Given the description of an element on the screen output the (x, y) to click on. 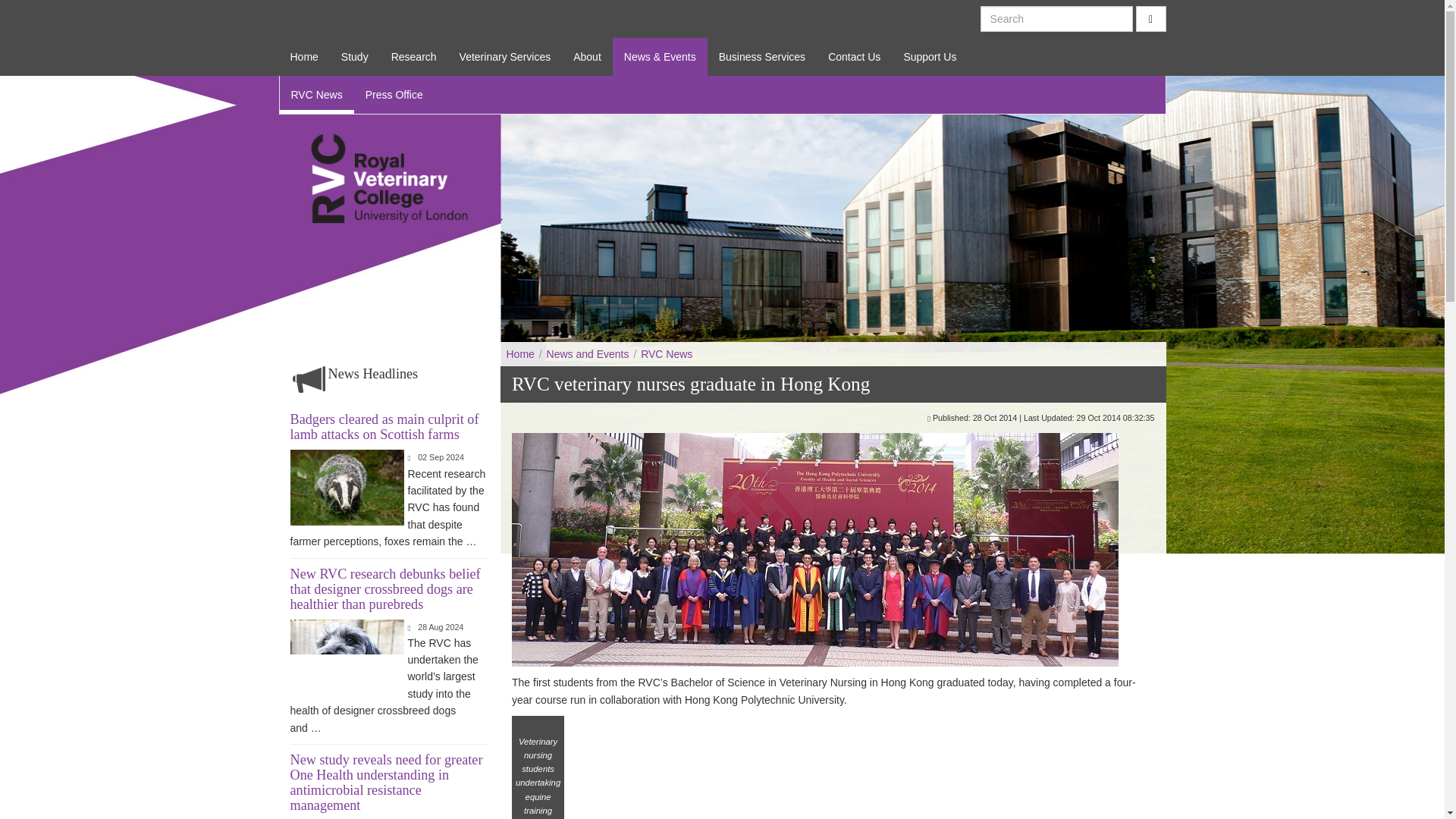
Contact Us (853, 56)
News and Events (587, 354)
RVC News (666, 354)
RVC News (316, 94)
Study (355, 56)
Support Us (929, 56)
Research (414, 56)
search (1150, 18)
